Given the description of an element on the screen output the (x, y) to click on. 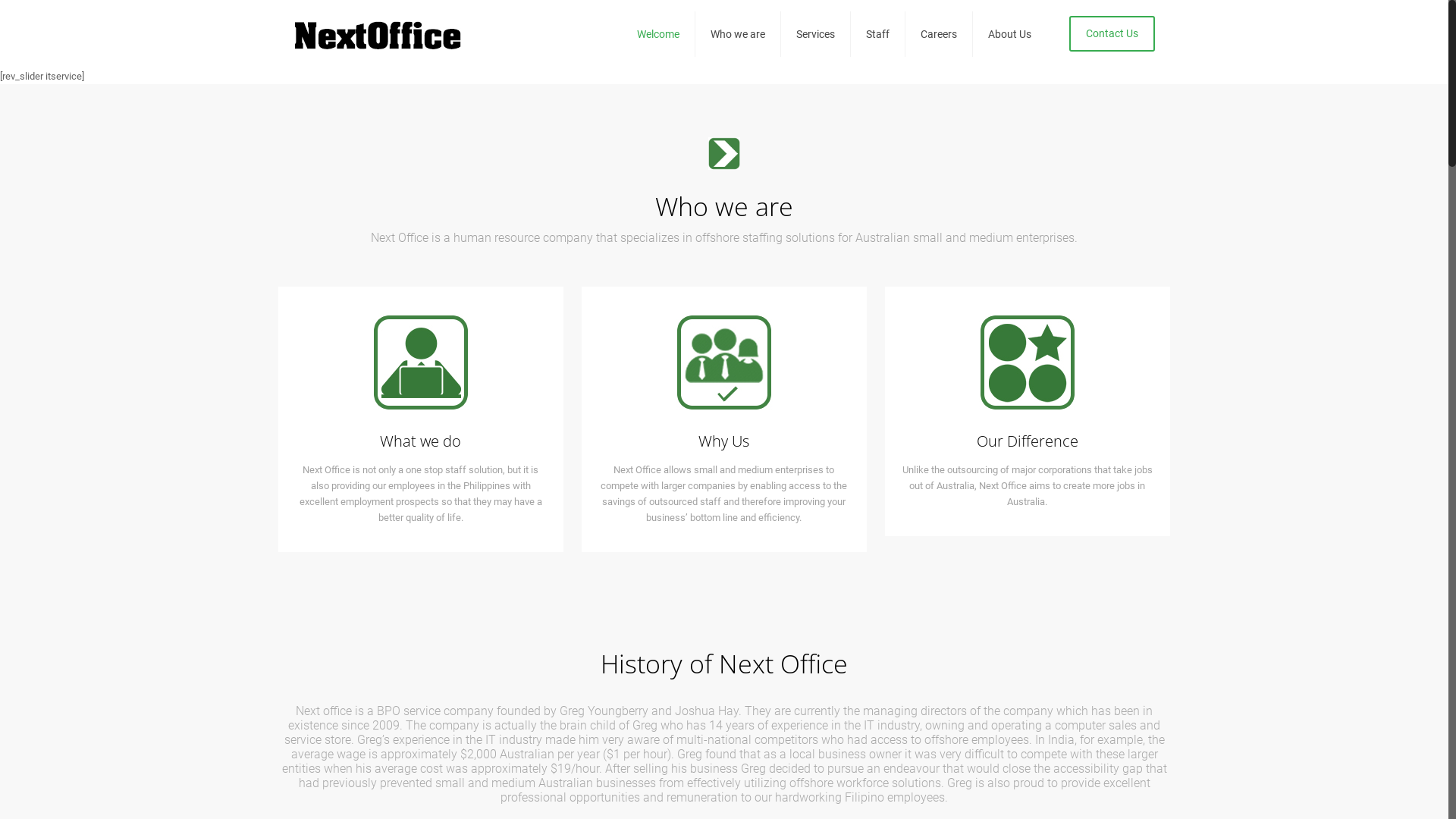
Careers Element type: text (938, 34)
Staff Element type: text (877, 34)
Welcome Element type: text (658, 34)
Next Office Pty Ltd Element type: hover (377, 34)
Contact Us Element type: text (1111, 33)
Who we are Element type: text (738, 34)
About Us Element type: text (1009, 34)
Services Element type: text (815, 34)
